Given the description of an element on the screen output the (x, y) to click on. 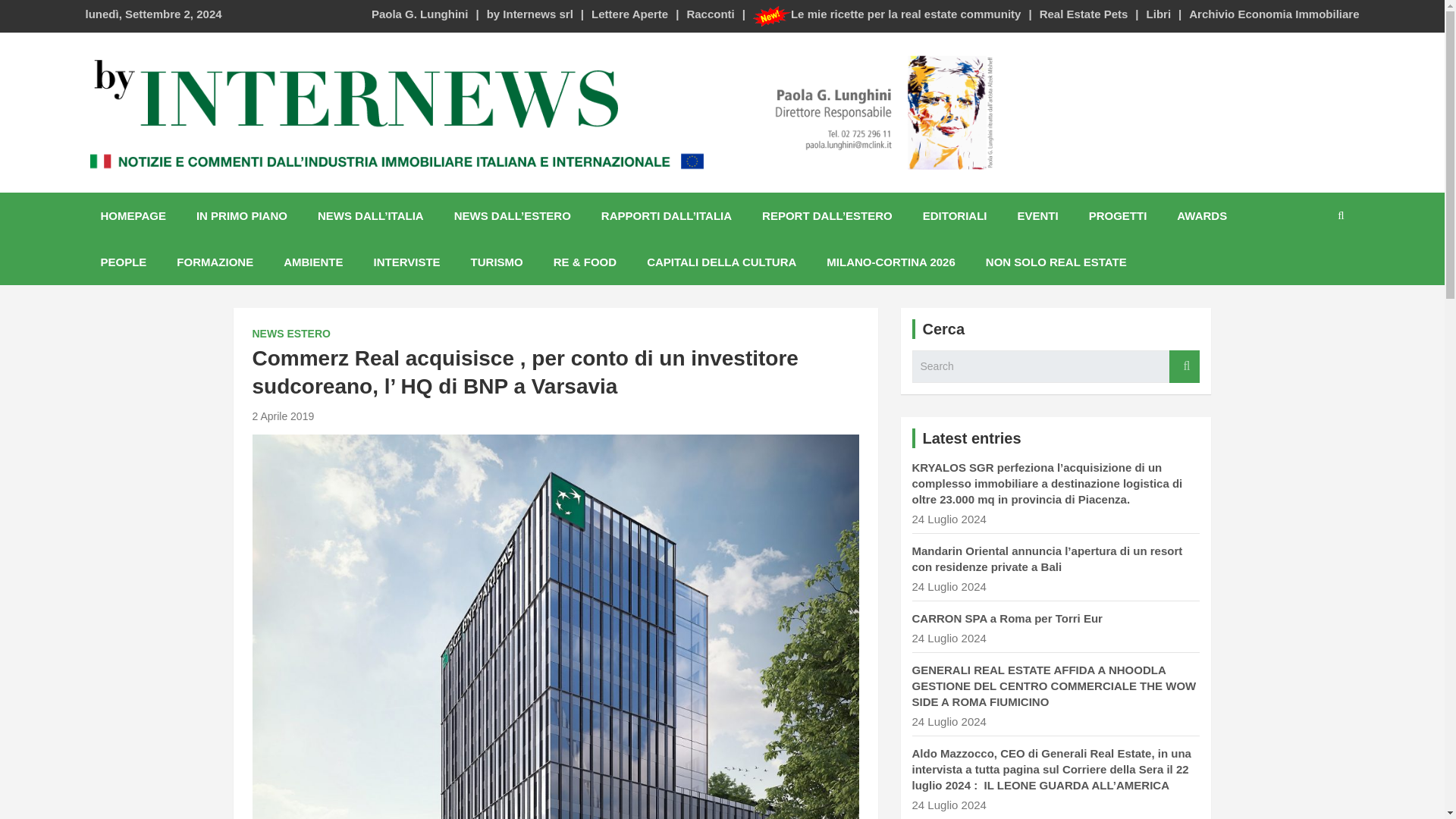
AWARDS (1201, 215)
MILANO-CORTINA 2026 (889, 262)
CAPITALI DELLA CULTURA (720, 262)
TURISMO (496, 262)
IN PRIMO PIANO (241, 215)
Paola G. Lunghini (419, 13)
2 Aprile 2019 (282, 416)
Real Estate Pets (1083, 13)
Lettere Aperte (629, 13)
AMBIENTE (312, 262)
